Given the description of an element on the screen output the (x, y) to click on. 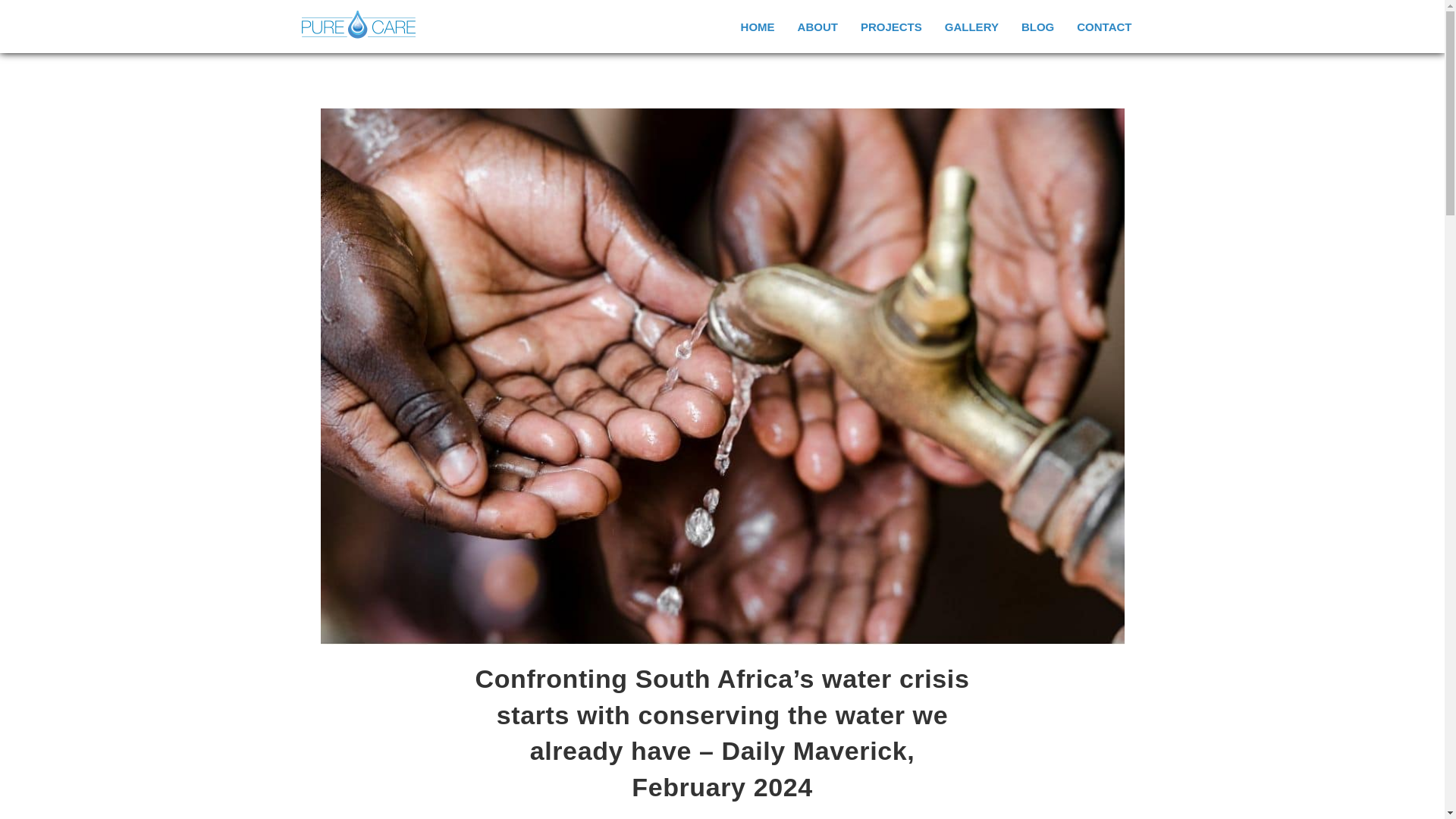
PROJECTS (890, 26)
GALLERY (971, 26)
ABOUT (817, 26)
HOME (757, 26)
CONTACT (1103, 26)
BLOG (1037, 26)
